Given the description of an element on the screen output the (x, y) to click on. 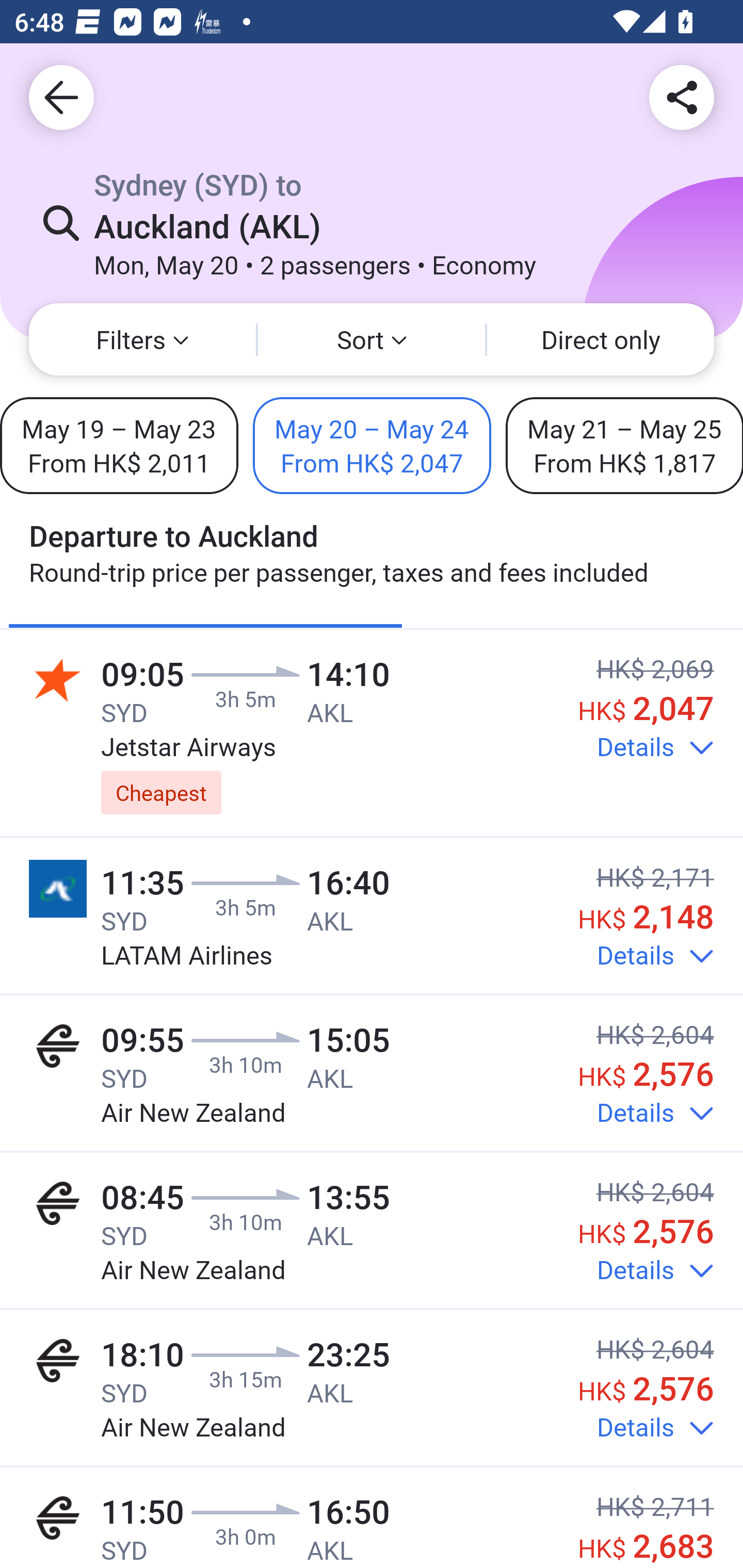
Filters (141, 339)
Sort (371, 339)
Direct only (600, 339)
May 19 – May 23 From HK$ 2,011 (119, 444)
May 20 – May 24 From HK$ 2,047 (371, 444)
May 21 – May 25 From HK$ 1,817 (624, 444)
